Given the description of an element on the screen output the (x, y) to click on. 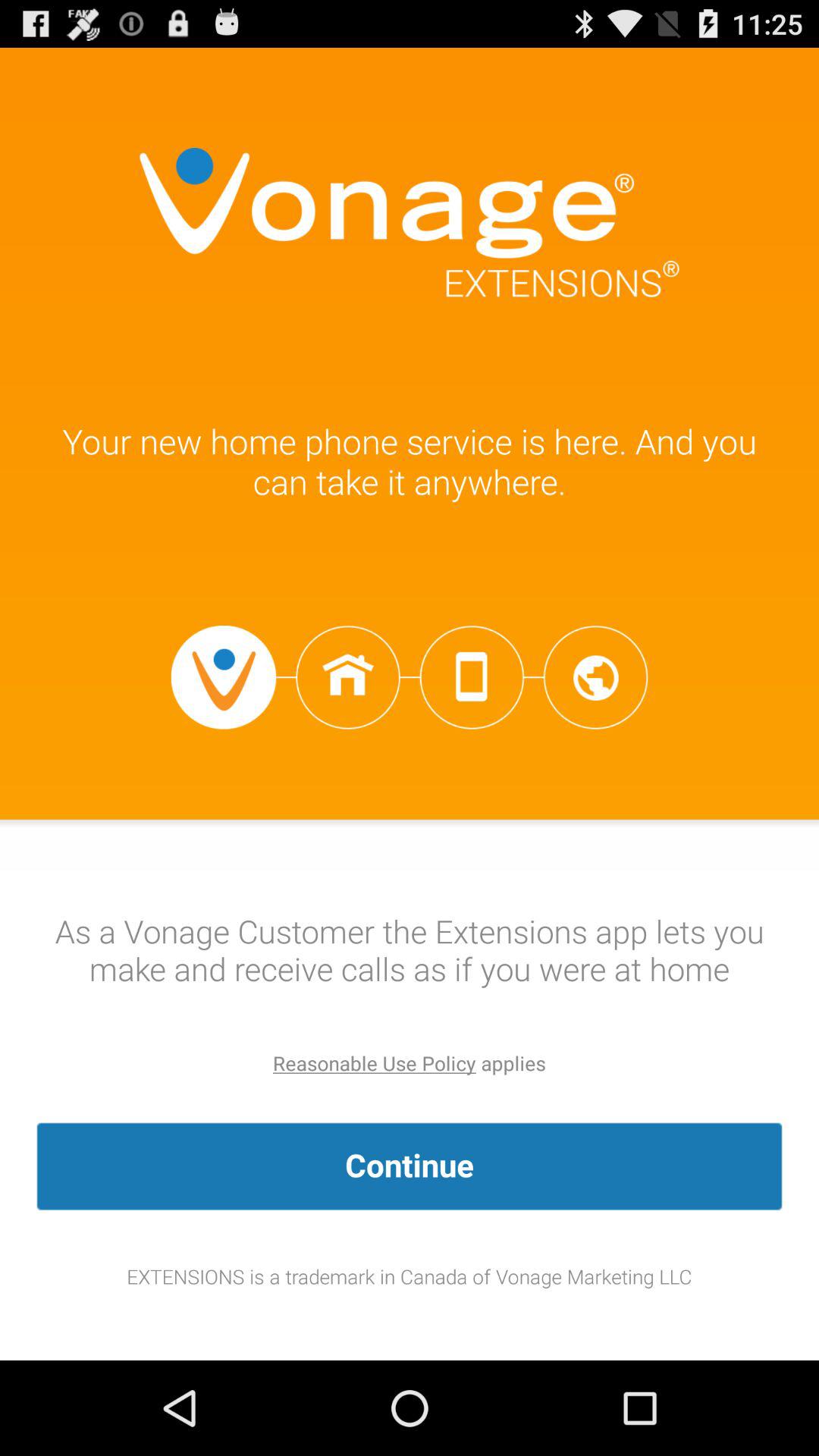
scroll to the reasonable use policy (374, 1062)
